Given the description of an element on the screen output the (x, y) to click on. 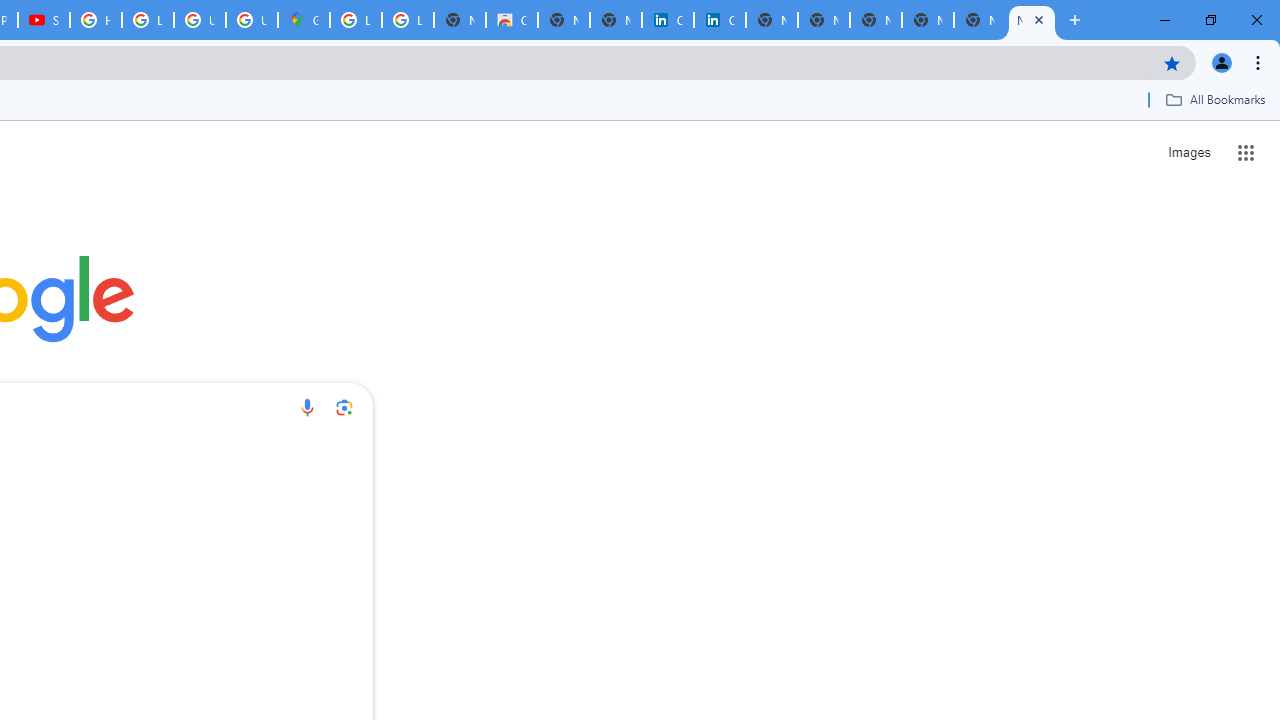
Search by image (344, 407)
All Bookmarks (1215, 99)
How Chrome protects your passwords - Google Chrome Help (95, 20)
Search by voice (307, 407)
Google Maps (303, 20)
Cookie Policy | LinkedIn (719, 20)
